Given the description of an element on the screen output the (x, y) to click on. 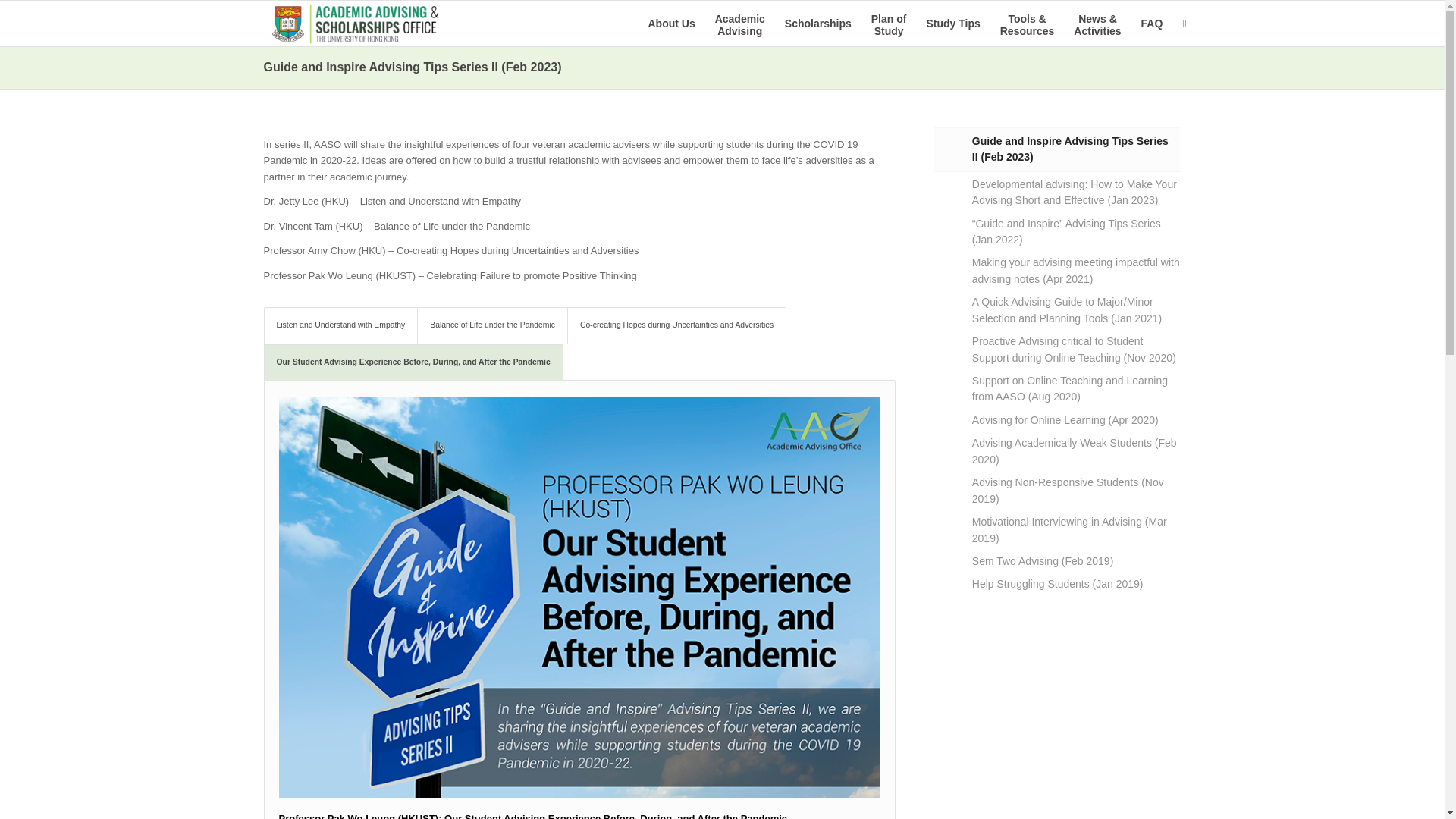
About Us (670, 22)
Scholarships (817, 22)
Scholarships (739, 22)
